Given the description of an element on the screen output the (x, y) to click on. 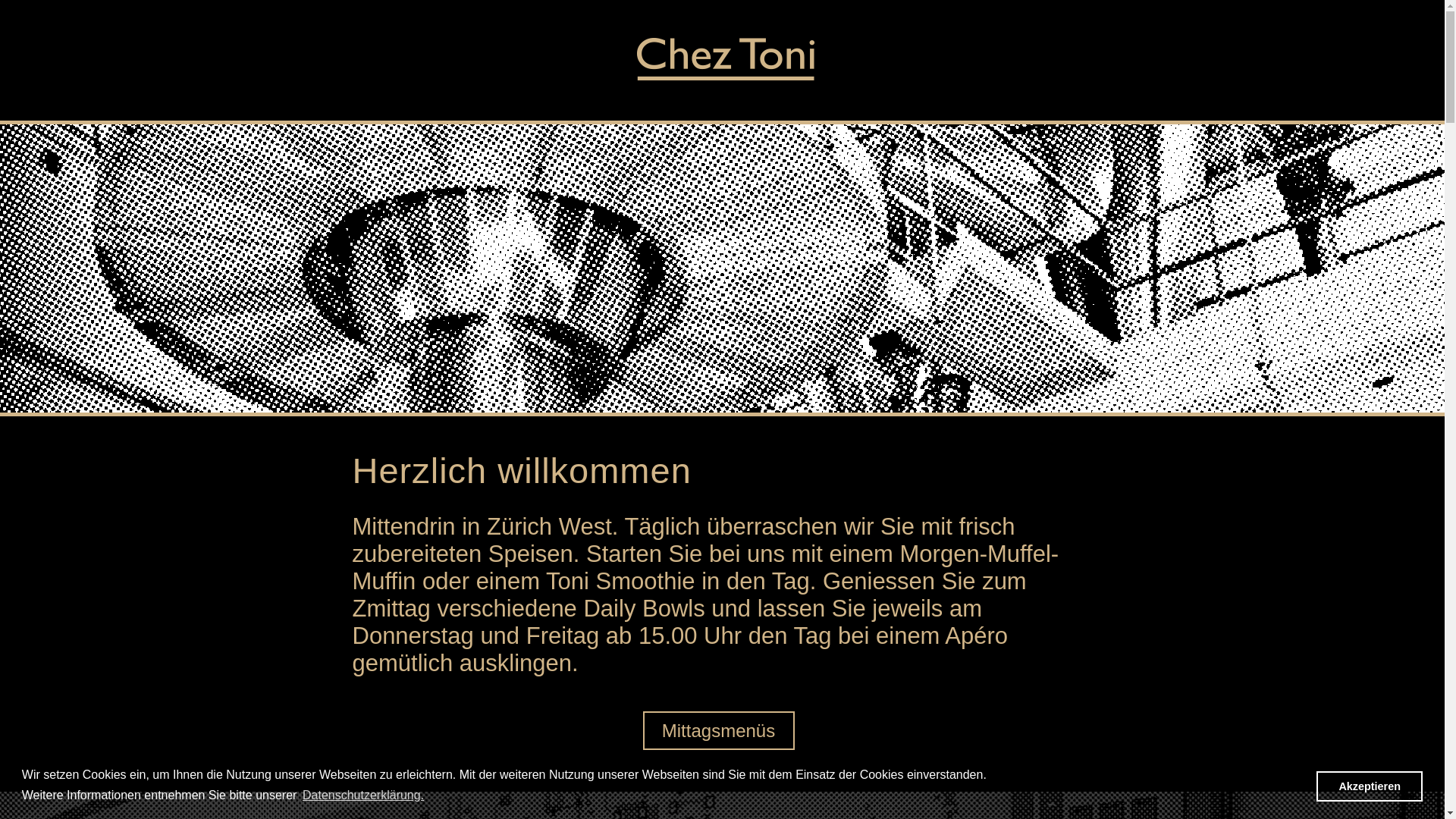
Akzeptieren Element type: text (1369, 786)
